Given the description of an element on the screen output the (x, y) to click on. 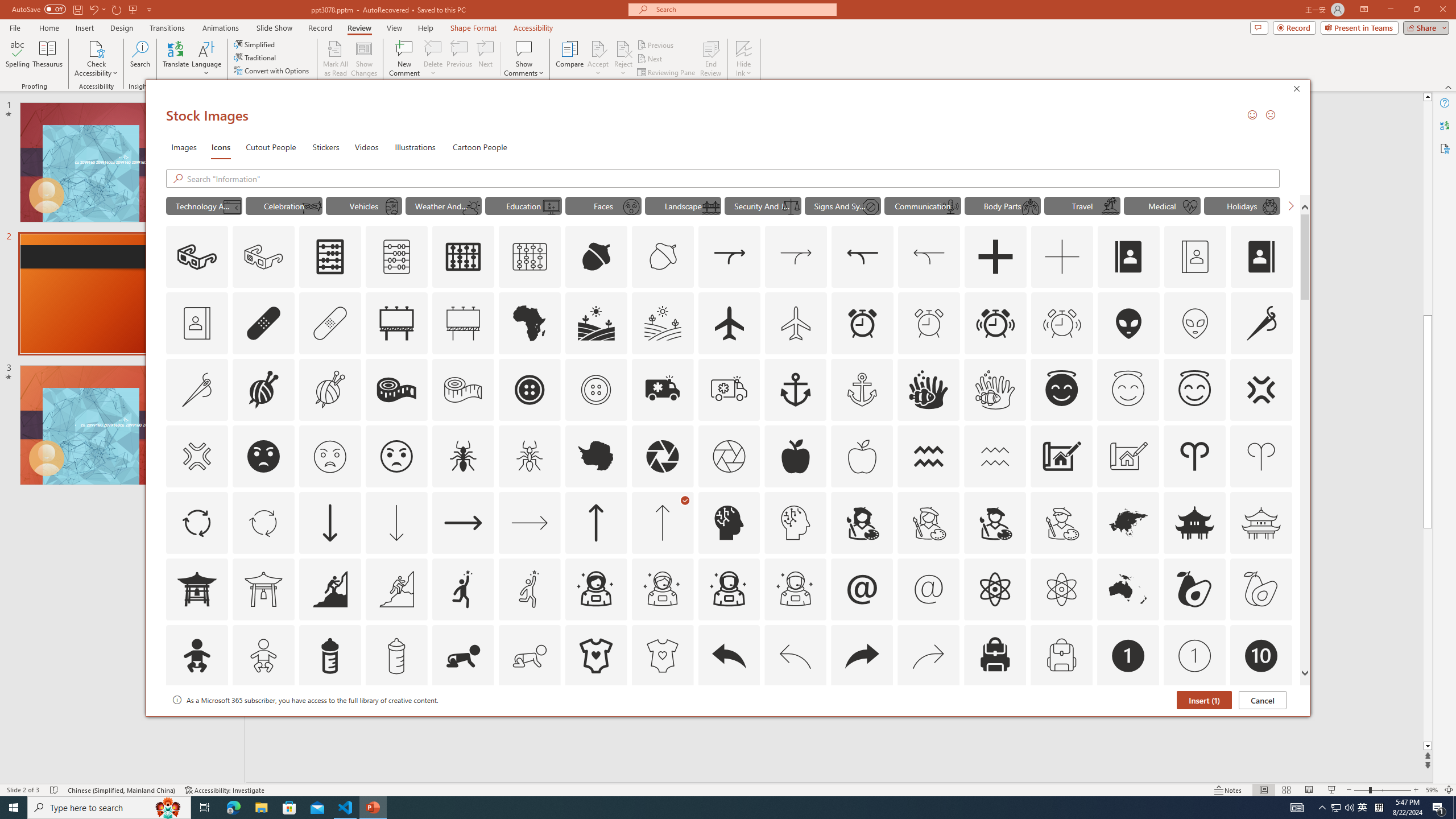
Next Search Suggestion (1290, 205)
AutomationID: Icons_Aspiration_M (395, 588)
AutomationID: Icons_AdhesiveBandage (263, 323)
AutomationID: Icons_HeartWithPulse_M (1190, 206)
AutomationID: Icons_AngryFace_Outline (395, 455)
